Given the description of an element on the screen output the (x, y) to click on. 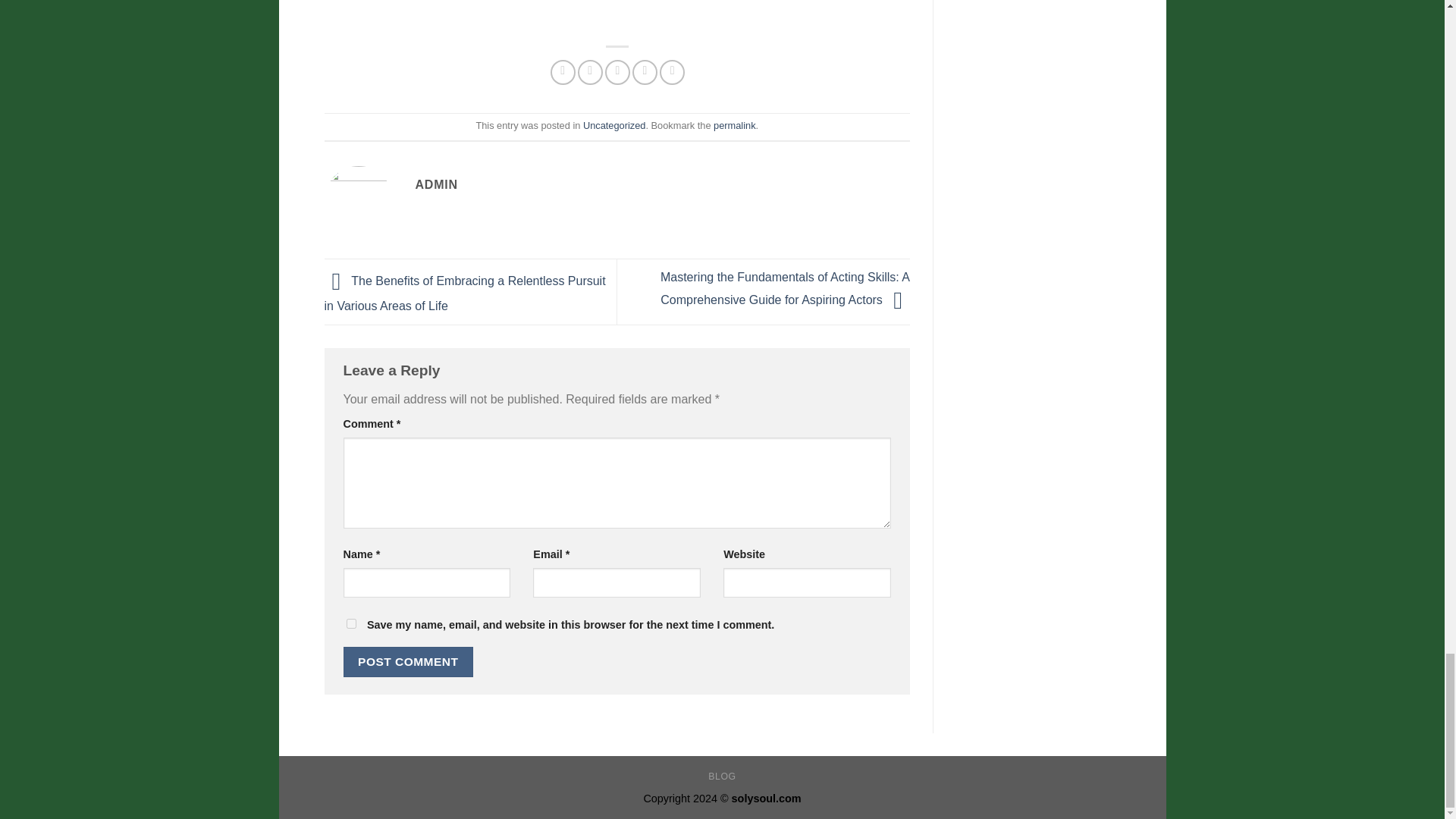
Share on LinkedIn (671, 72)
Post Comment (407, 661)
Share on Twitter (590, 72)
Share on Facebook (562, 72)
yes (350, 623)
Email to a Friend (617, 72)
Pin on Pinterest (644, 72)
